Given the description of an element on the screen output the (x, y) to click on. 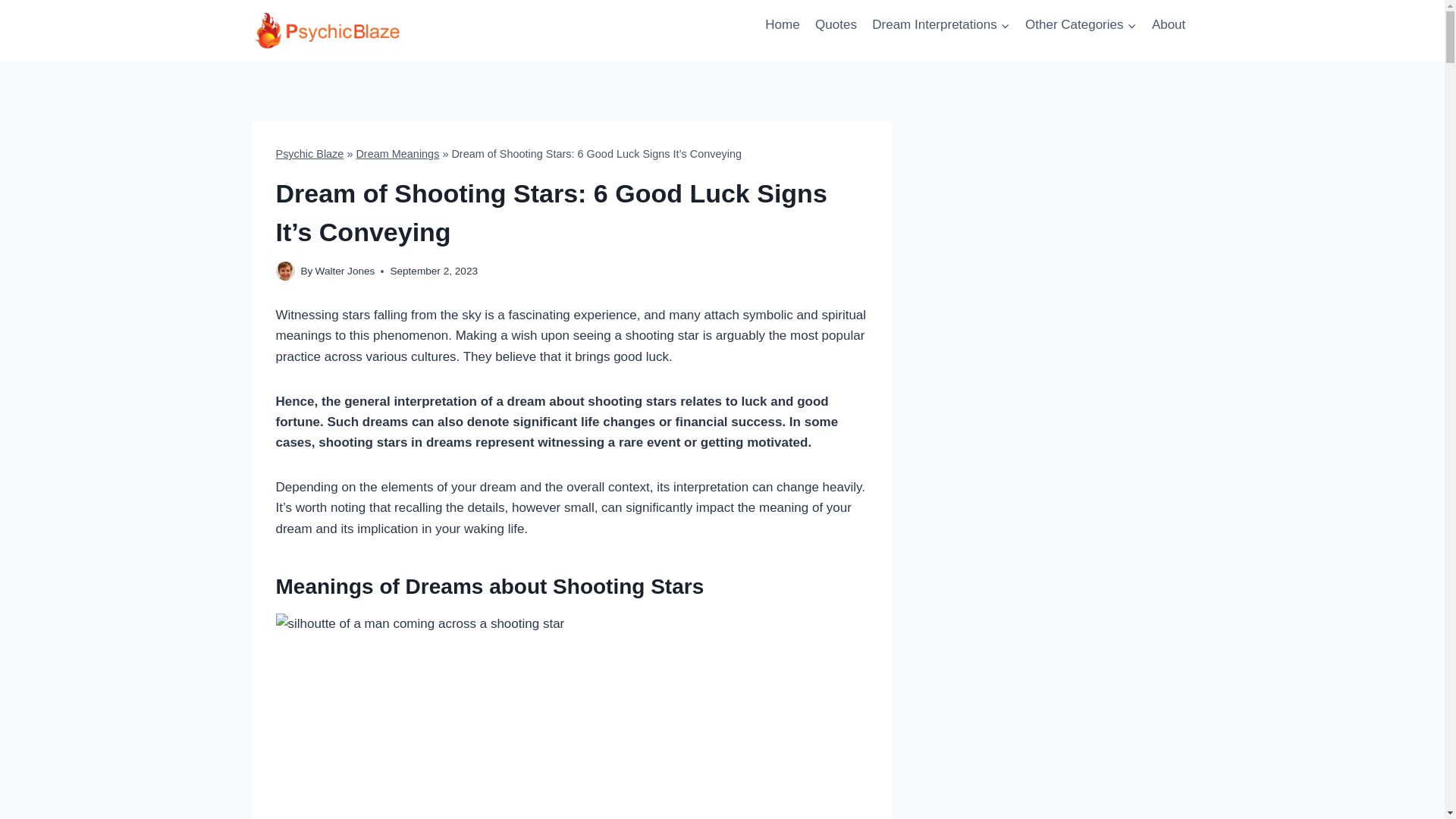
Quotes (836, 24)
Psychic Blaze (309, 153)
Dream Meanings (397, 153)
About (1168, 24)
Dream Interpretations (940, 24)
Walter Jones (345, 270)
Home (782, 24)
Other Categories (1080, 24)
